Given the description of an element on the screen output the (x, y) to click on. 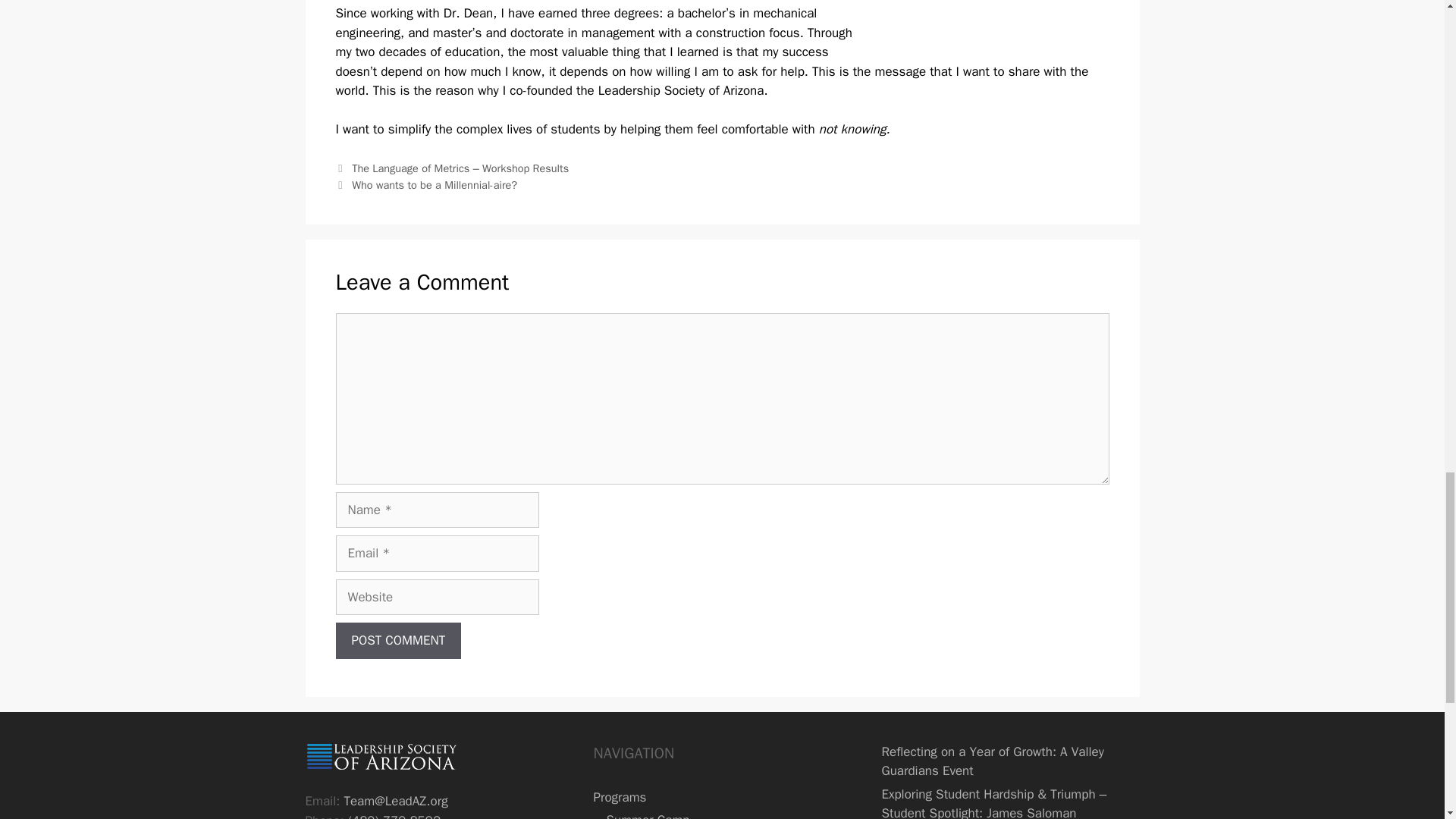
Programs (619, 797)
Who wants to be a Millennial-aire? (434, 184)
Post Comment (397, 640)
Summer Camp (646, 815)
Post Comment (397, 640)
